Given the description of an element on the screen output the (x, y) to click on. 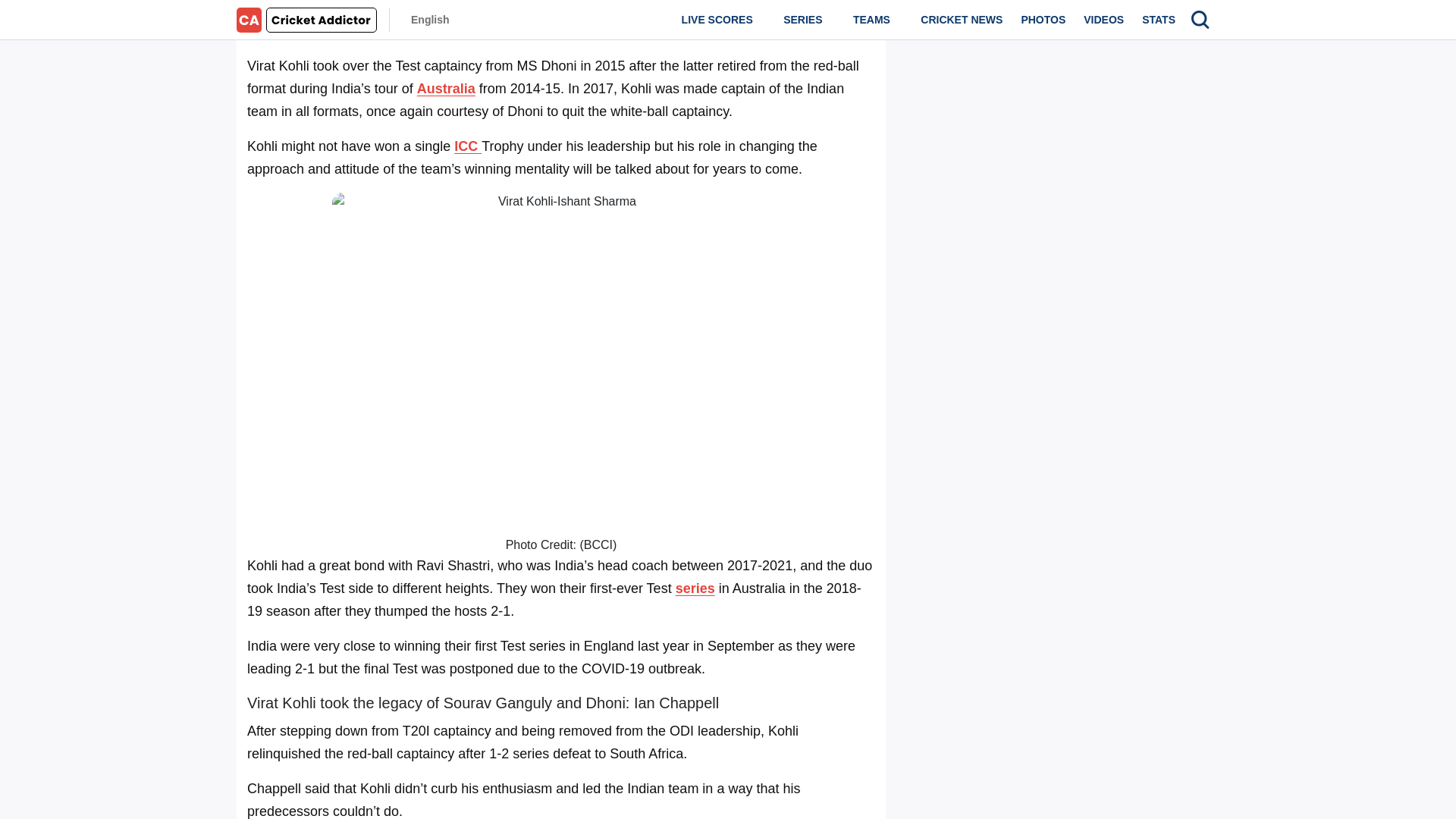
series (694, 588)
India (652, 30)
Virat Kohli (584, 30)
Australia (446, 88)
